Given the description of an element on the screen output the (x, y) to click on. 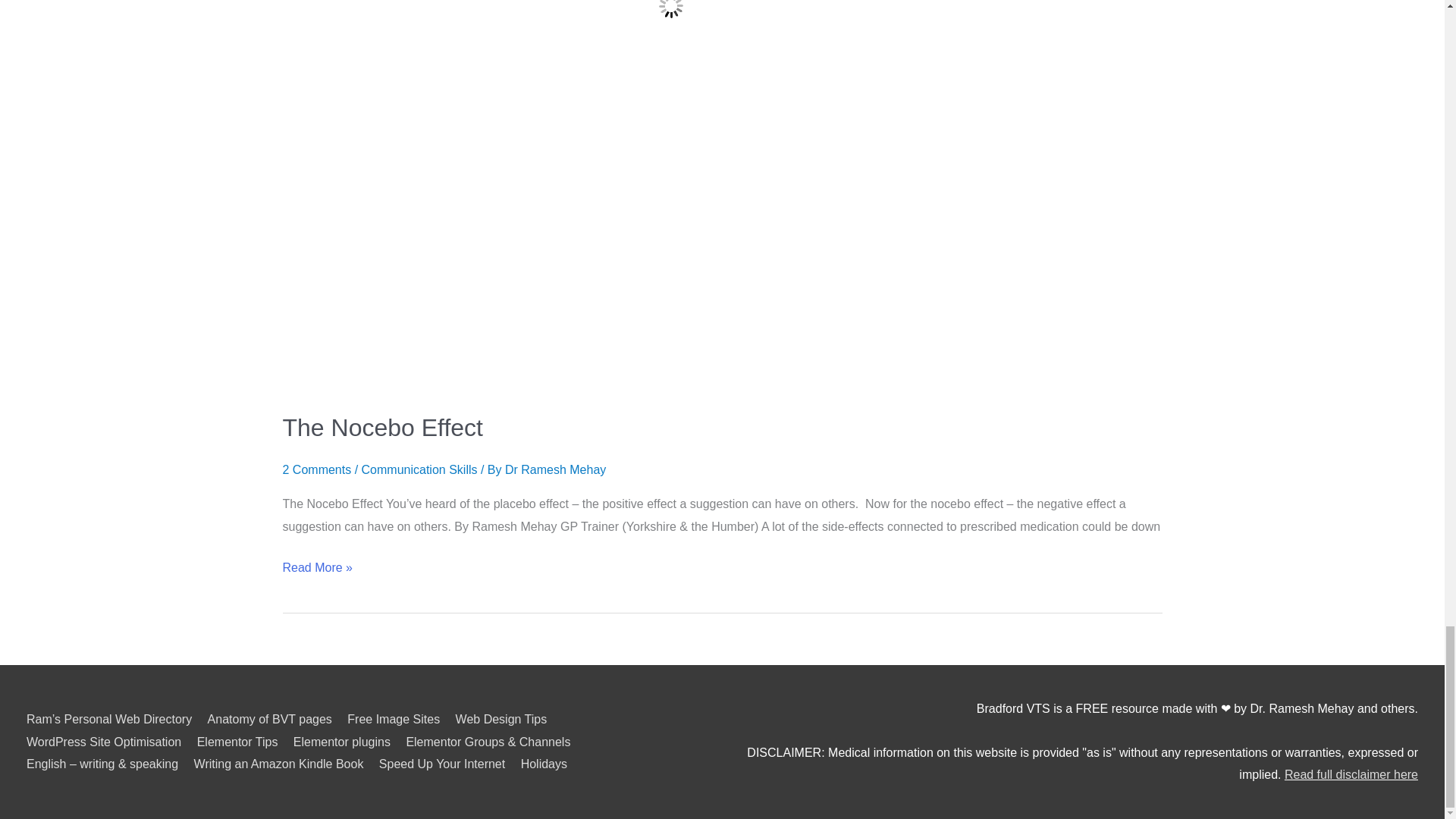
View all posts by Dr Ramesh Mehay (555, 469)
